Given the description of an element on the screen output the (x, y) to click on. 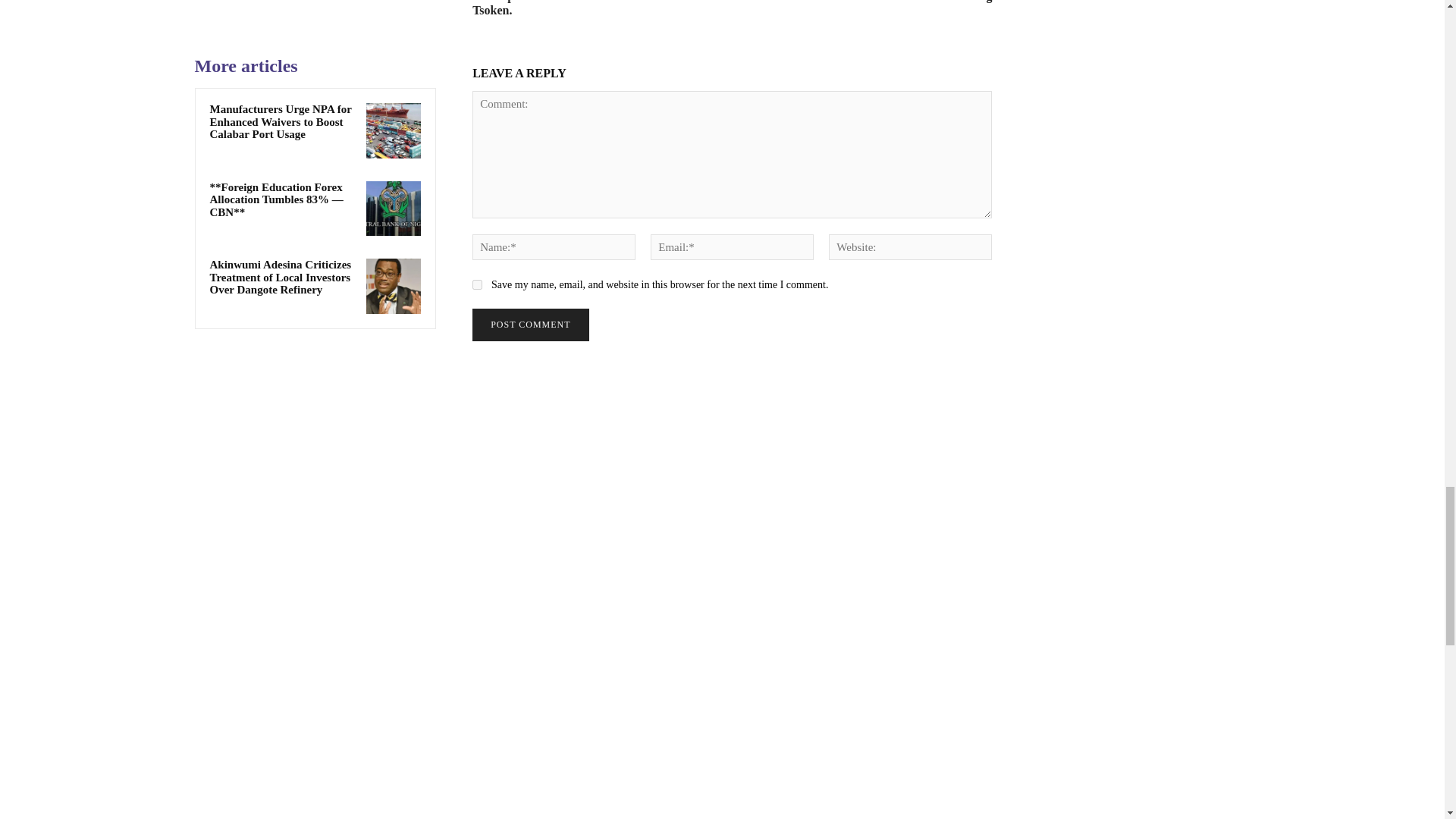
yes (476, 284)
Post Comment (529, 324)
